Given the description of an element on the screen output the (x, y) to click on. 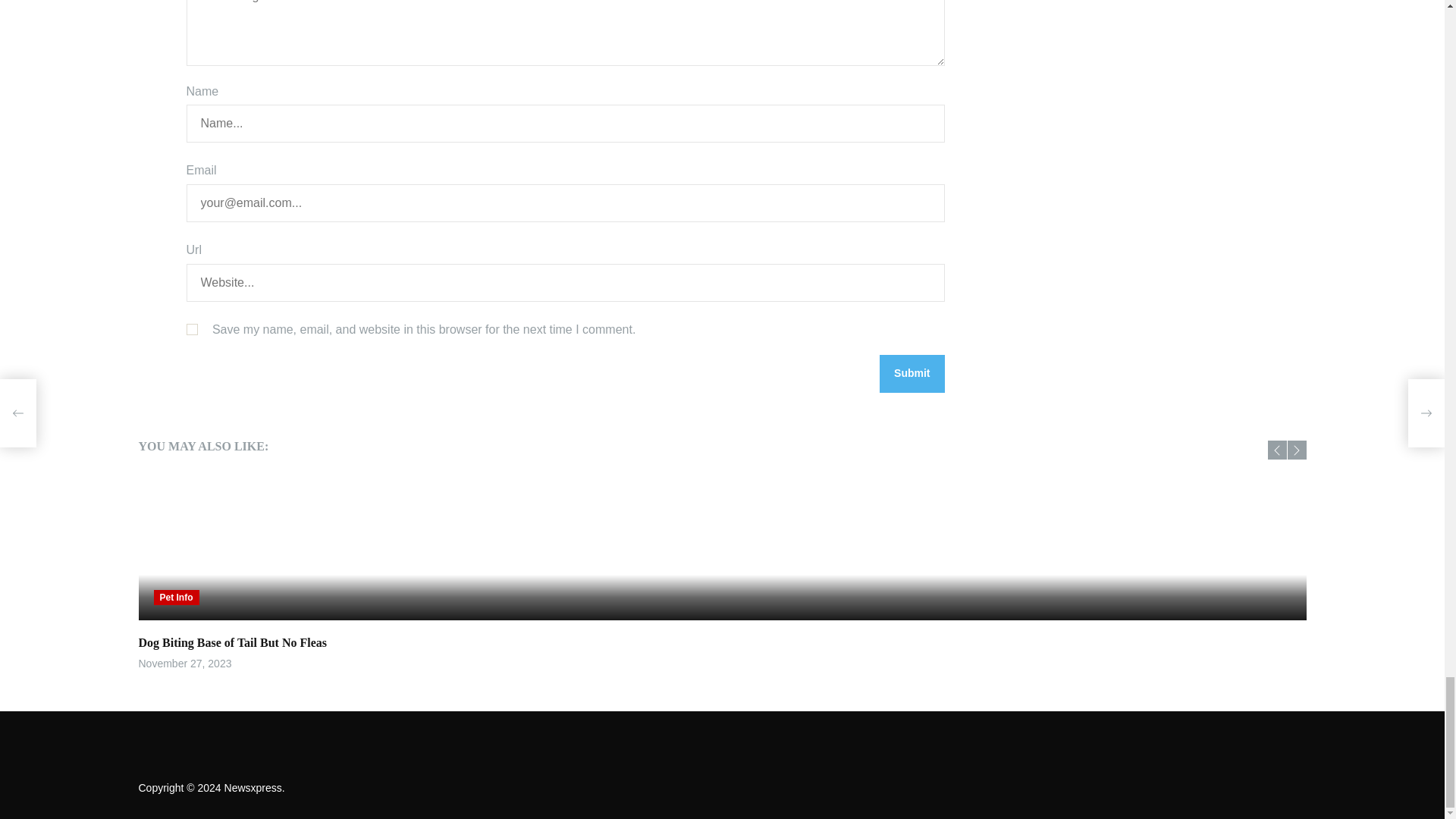
yes (192, 328)
Submit (911, 373)
